Given the description of an element on the screen output the (x, y) to click on. 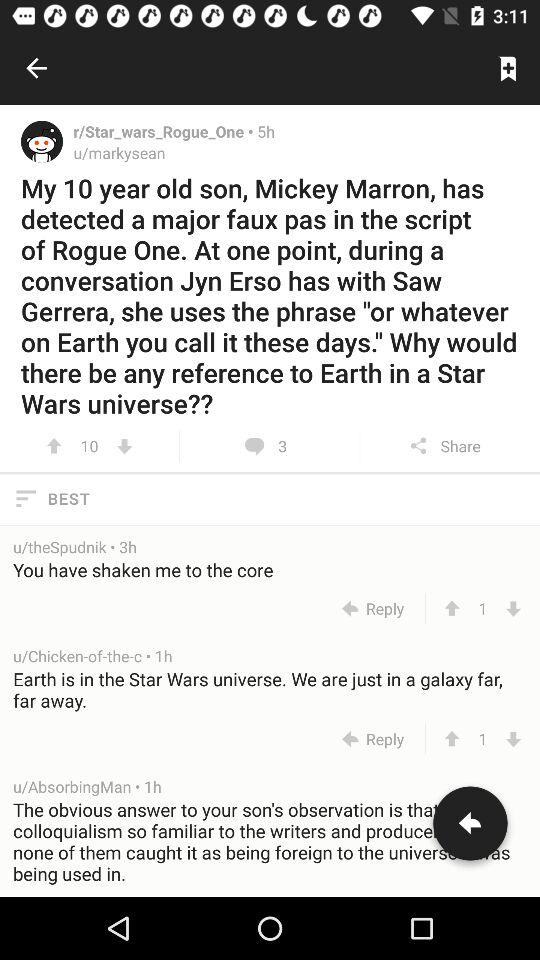
see more (124, 446)
